Given the description of an element on the screen output the (x, y) to click on. 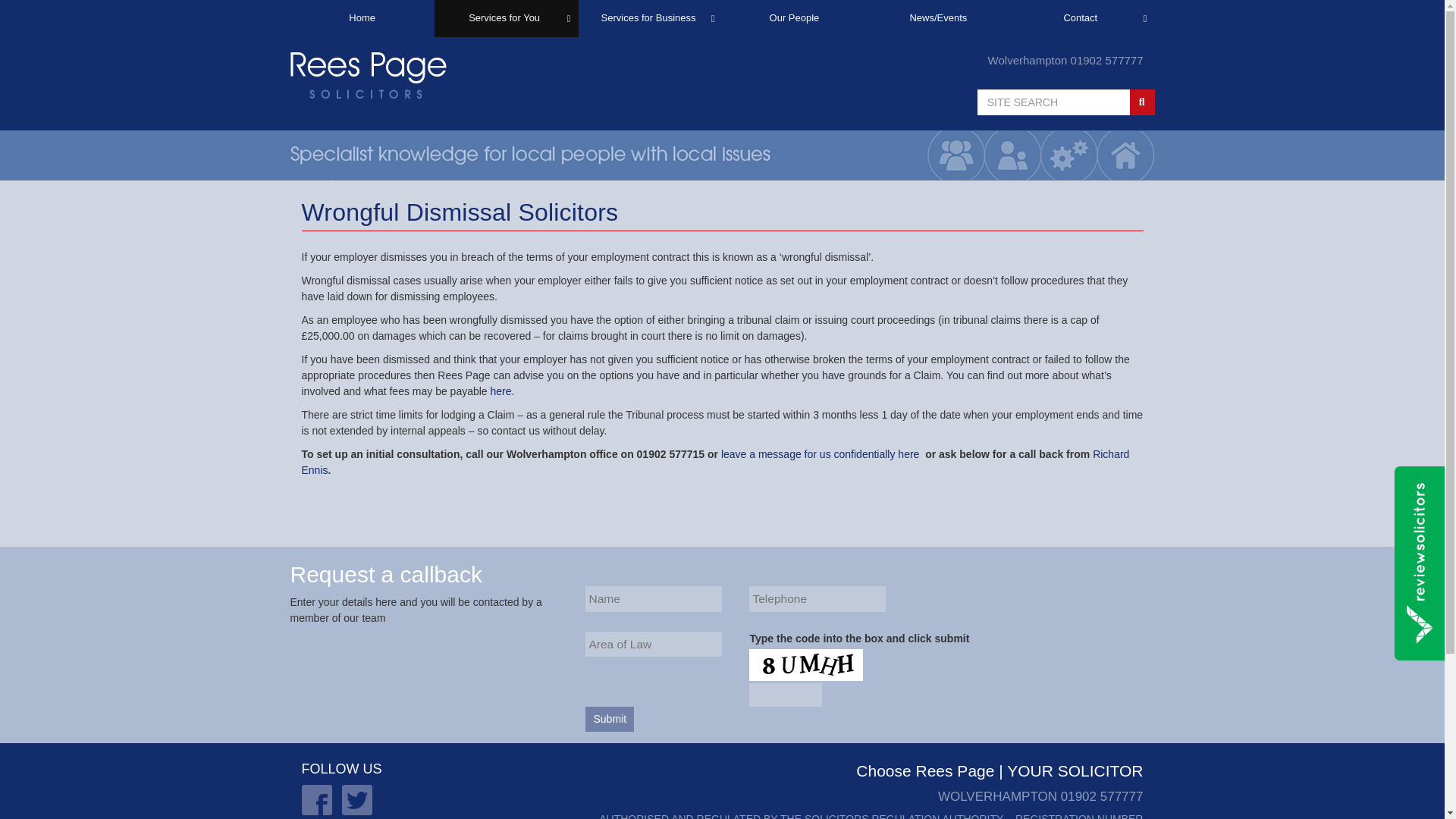
Submit (609, 719)
leave us a message (820, 453)
Services for Business (650, 18)
Home (361, 18)
Follow us on Twitter (357, 799)
Services for You (505, 18)
Follow us on Facebook (316, 799)
